Given the description of an element on the screen output the (x, y) to click on. 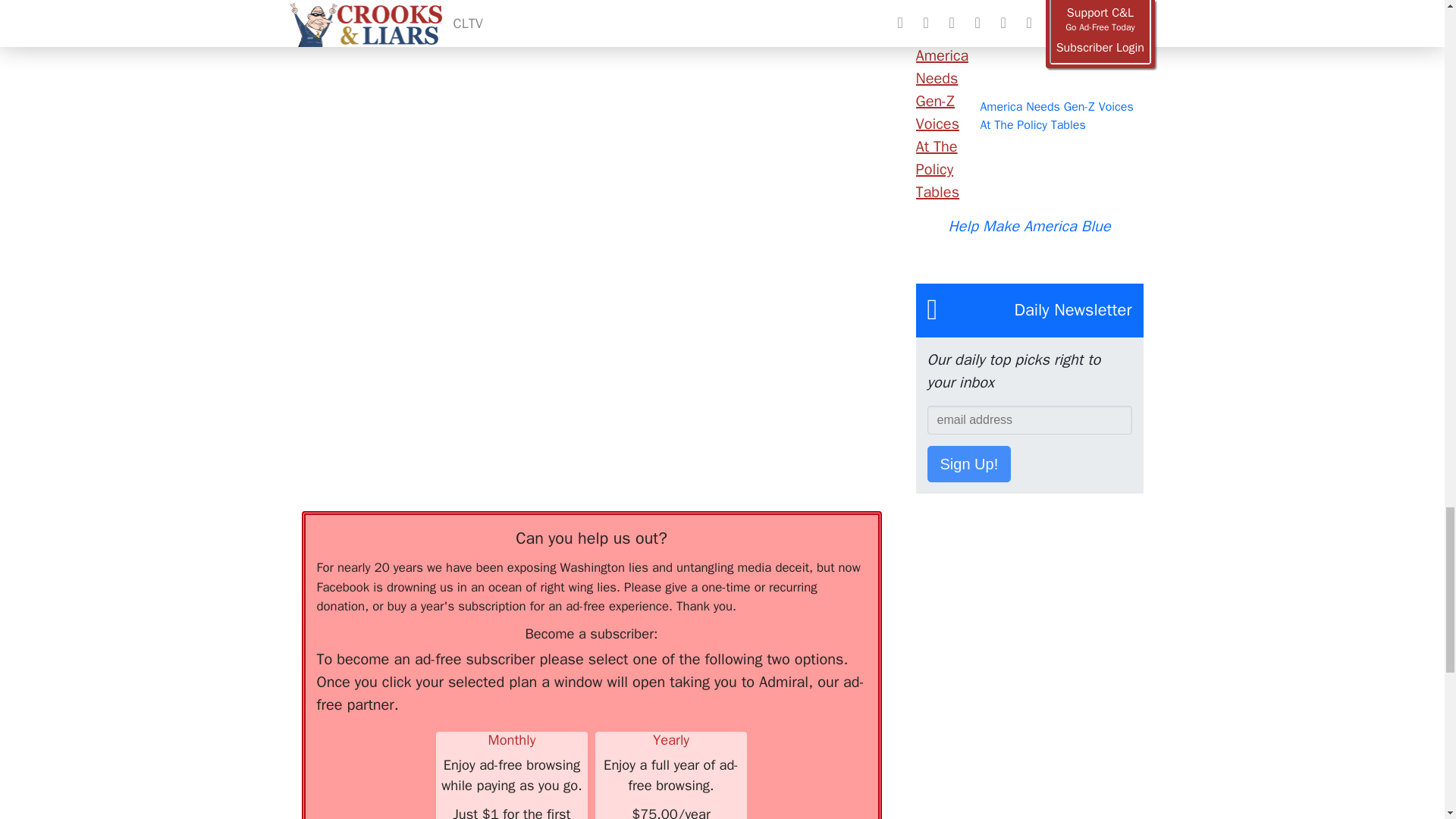
Insticator Content Engagement Unit (415, 200)
